Given the description of an element on the screen output the (x, y) to click on. 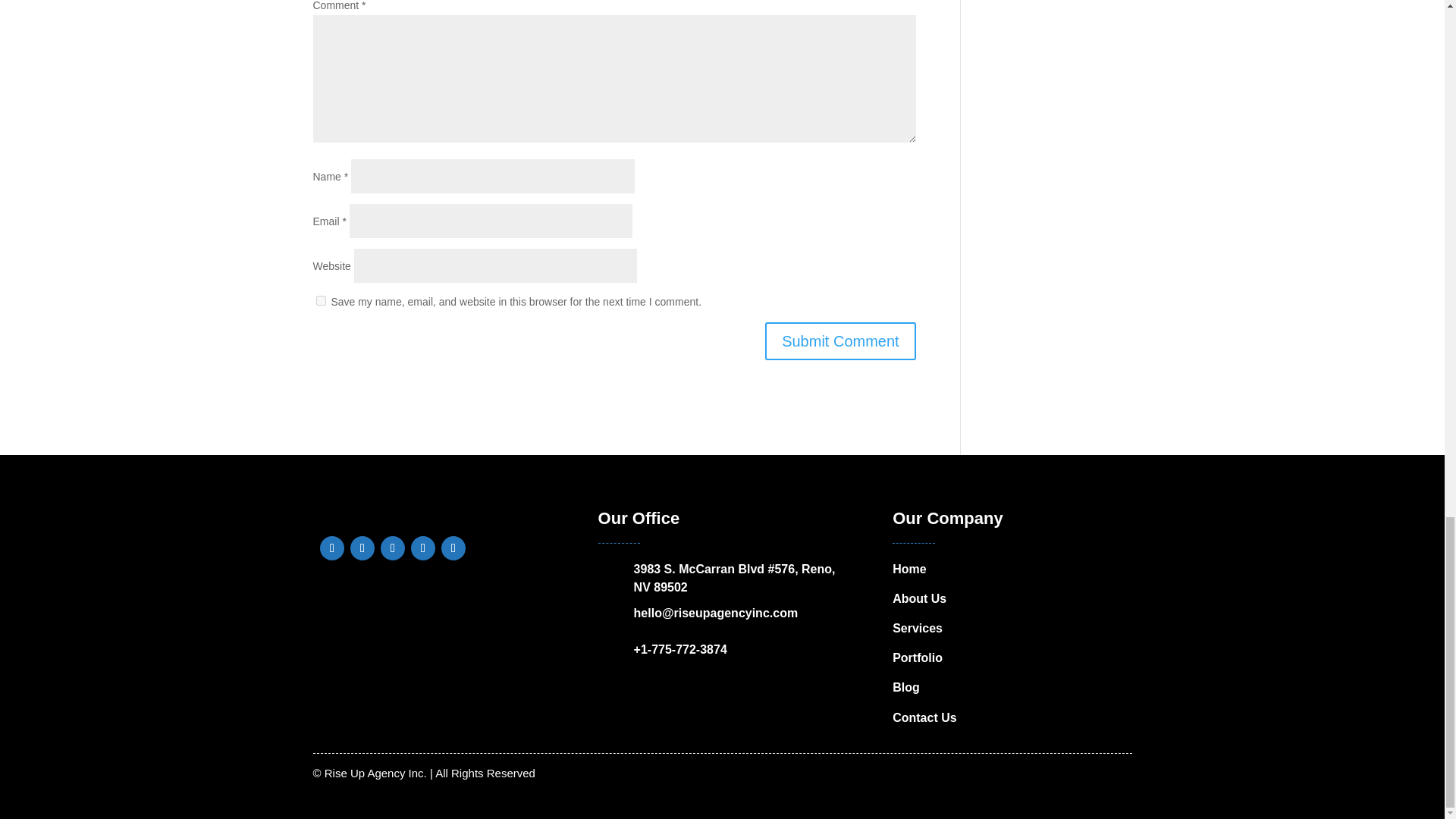
Follow on Youtube (453, 548)
Follow on LinkedIn (392, 548)
Follow on Facebook (331, 548)
Follow on Twitter (362, 548)
yes (319, 300)
Follow on Instagram (422, 548)
Submit Comment (840, 341)
Submit Comment (840, 341)
